Given the description of an element on the screen output the (x, y) to click on. 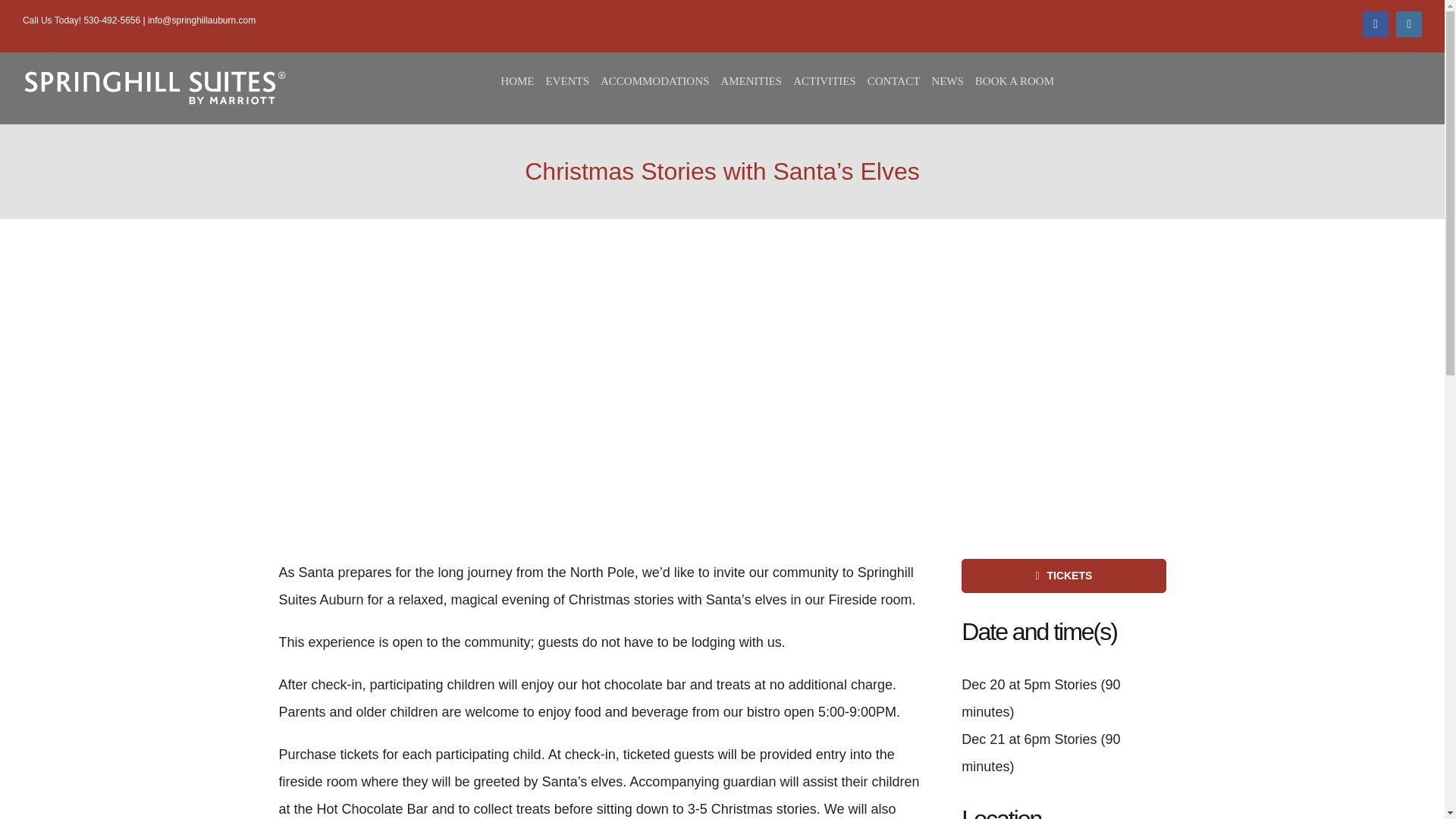
AMENITIES (756, 80)
EVENTS (573, 80)
accommodations (659, 80)
ACCOMMODATIONS (659, 80)
Instagram (1409, 23)
activities (830, 80)
Facebook (1375, 23)
contact (899, 80)
Purchase tickets to Christmas Stories with Santa's Elves (1063, 575)
